Given the description of an element on the screen output the (x, y) to click on. 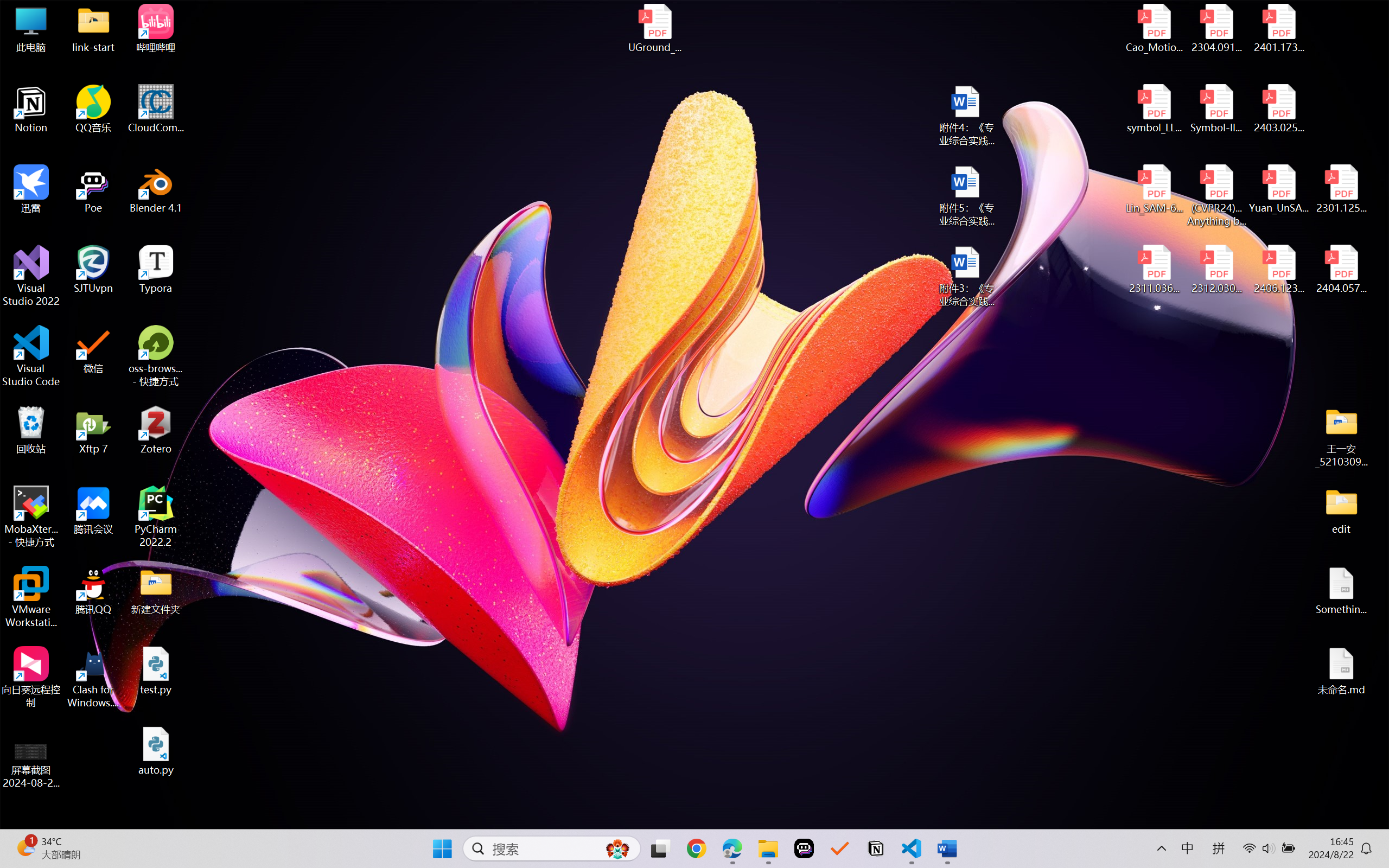
2406.12373v2.pdf (1278, 269)
test.py (156, 670)
edit (1340, 510)
2304.09121v3.pdf (1216, 28)
